Given the description of an element on the screen output the (x, y) to click on. 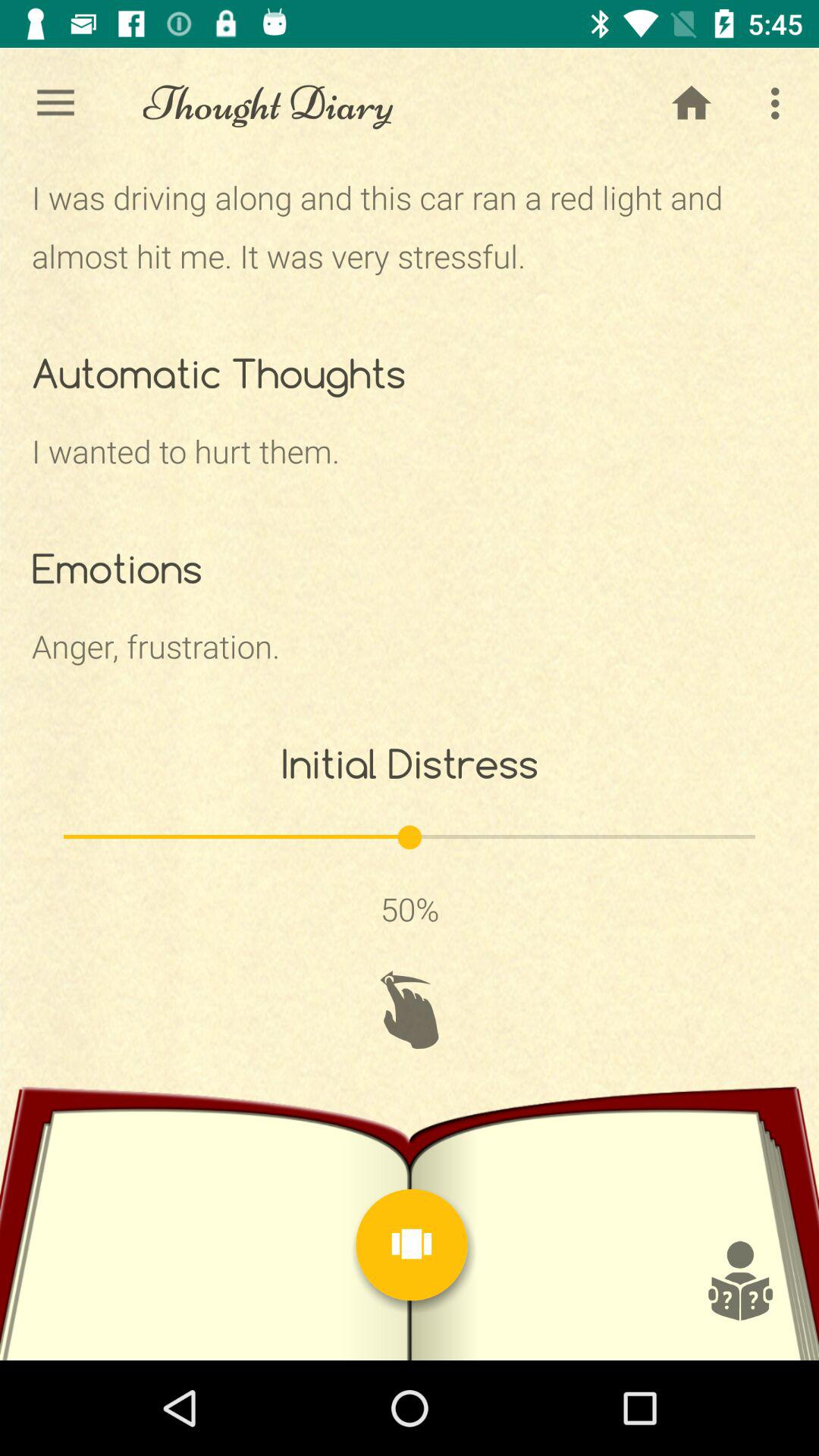
swipe to next page (409, 1009)
